Given the description of an element on the screen output the (x, y) to click on. 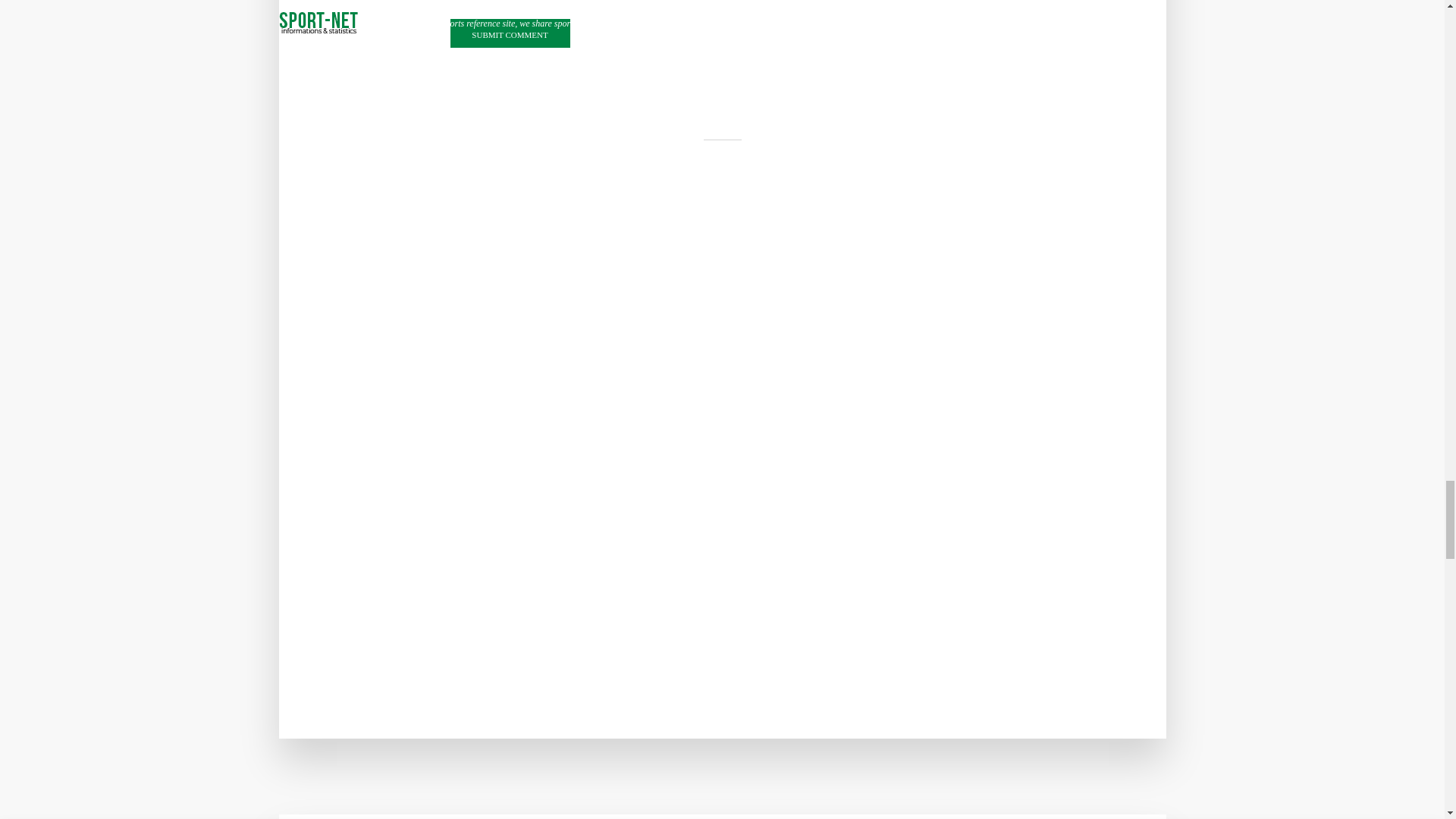
Submit Comment (509, 33)
Submit Comment (509, 33)
